Given the description of an element on the screen output the (x, y) to click on. 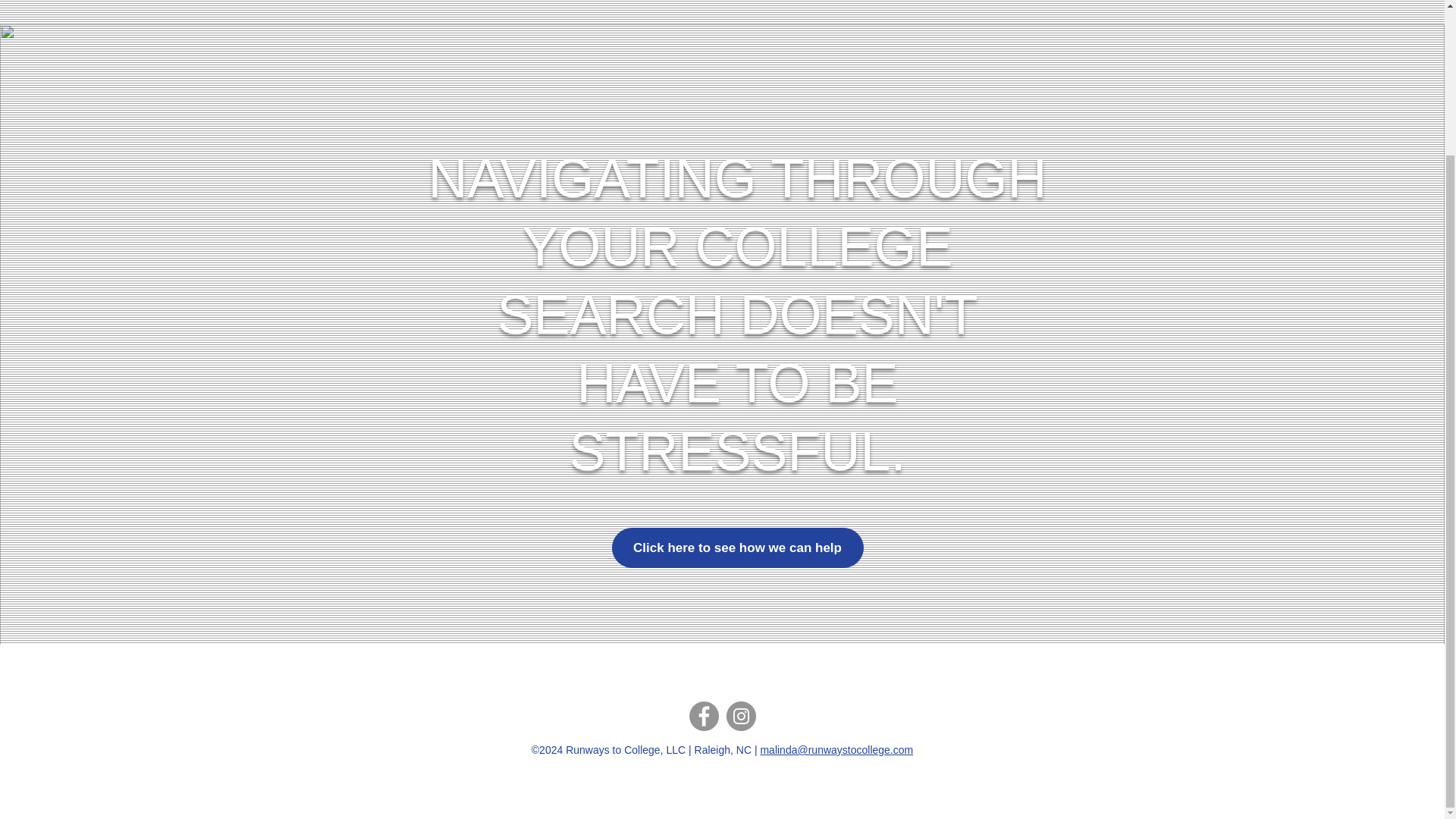
Click here to see how we can help (737, 547)
